Given the description of an element on the screen output the (x, y) to click on. 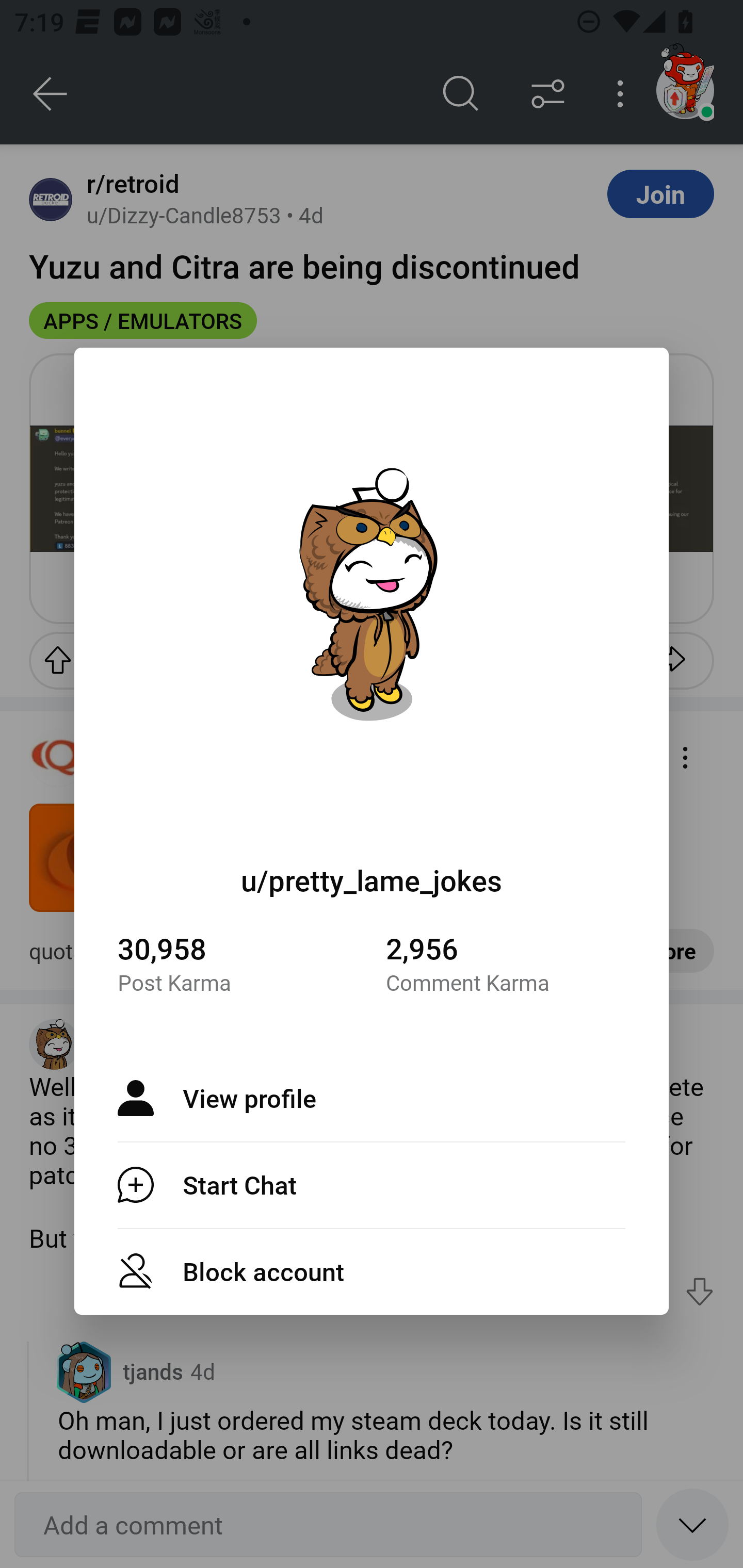
u/pretty_lame_jokes (371, 880)
View profile (371, 1098)
Start Chat (371, 1184)
Block account (371, 1270)
